Given the description of an element on the screen output the (x, y) to click on. 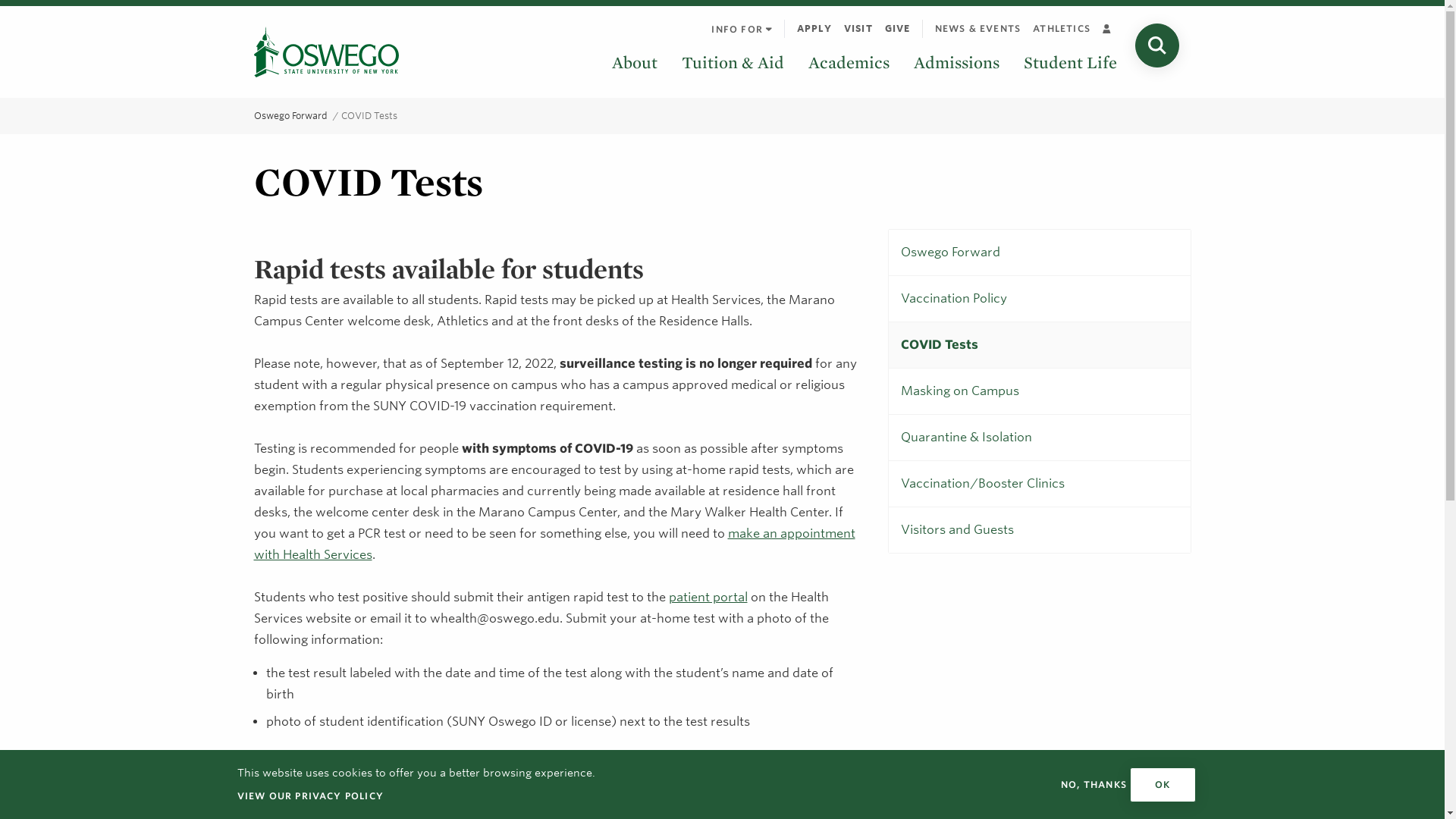
OK (1162, 784)
GIVE (898, 28)
ATHLETICS (1061, 28)
INFO FOR (740, 29)
NO, THANKS (1093, 784)
VISIT (858, 28)
About (633, 62)
VIEW OUR PRIVACY POLICY (309, 795)
APPLY (814, 28)
